Given the description of an element on the screen output the (x, y) to click on. 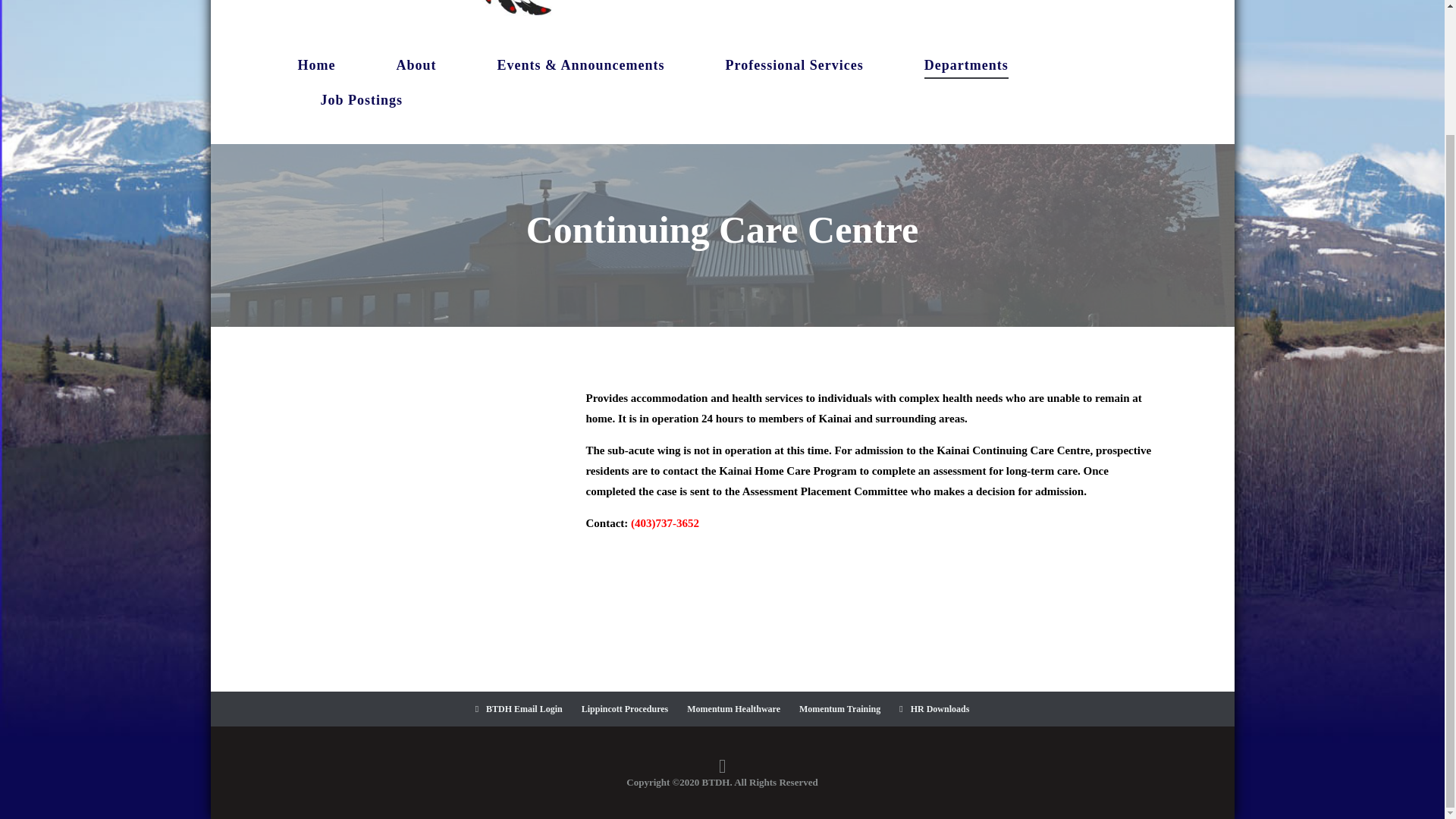
Job Postings (361, 99)
Departments (966, 64)
Professional Services (794, 64)
Home (315, 64)
About (415, 64)
